Given the description of an element on the screen output the (x, y) to click on. 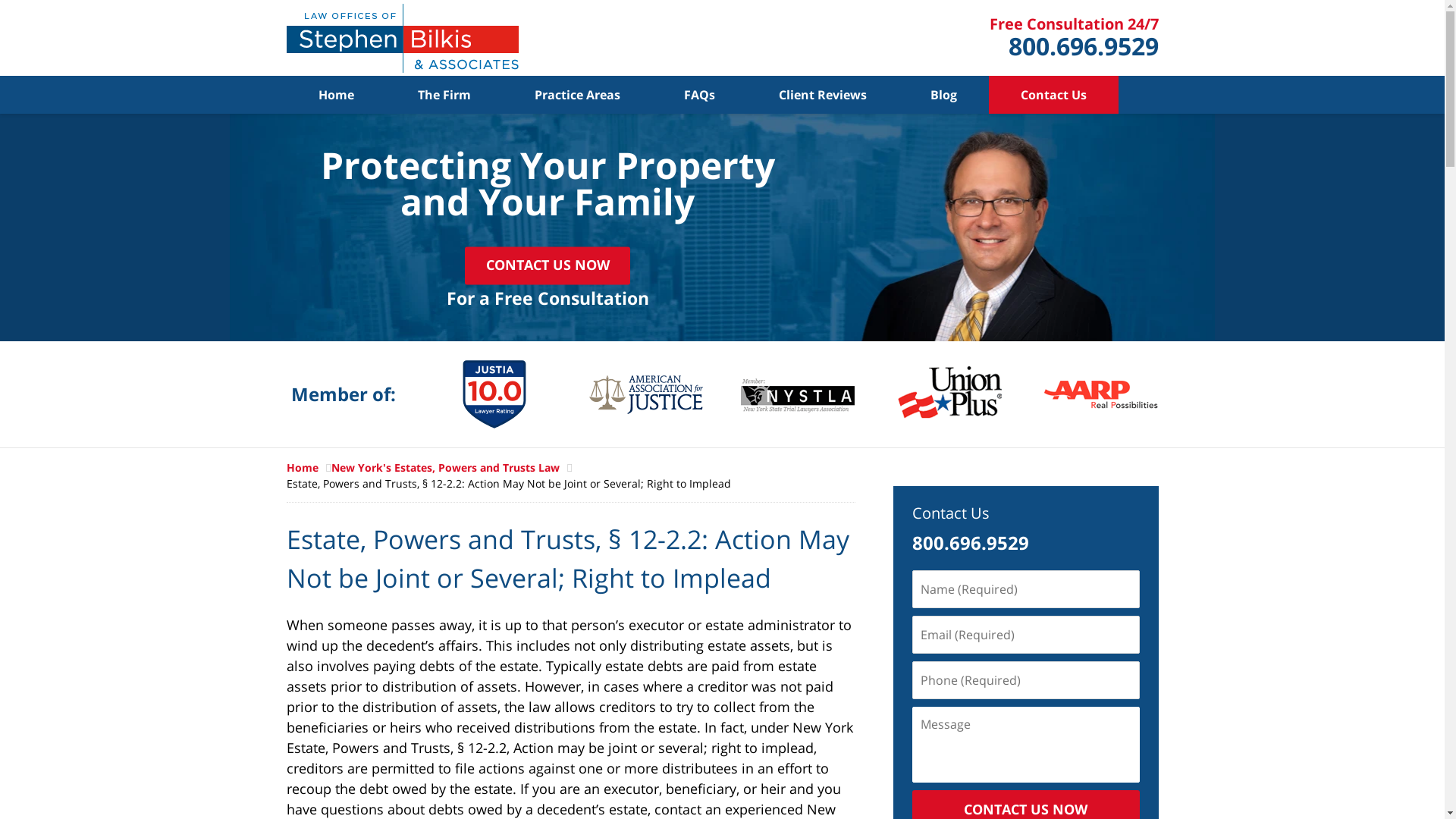
FAQs Element type: text (699, 94)
Client Reviews Element type: text (821, 94)
800.696.9529 Element type: text (1083, 45)
Contact Us Element type: text (949, 512)
Practice Areas Element type: text (576, 94)
Contact Us Element type: text (1053, 94)
Home Element type: text (335, 94)
CONTACT US NOW Element type: text (547, 265)
Stephen Bilkis & Associates Home Element type: text (402, 37)
The Firm Element type: text (443, 94)
Home Element type: text (308, 467)
New York's Estates, Powers and Trusts Law Element type: text (450, 467)
Blog Element type: text (942, 94)
